Given the description of an element on the screen output the (x, y) to click on. 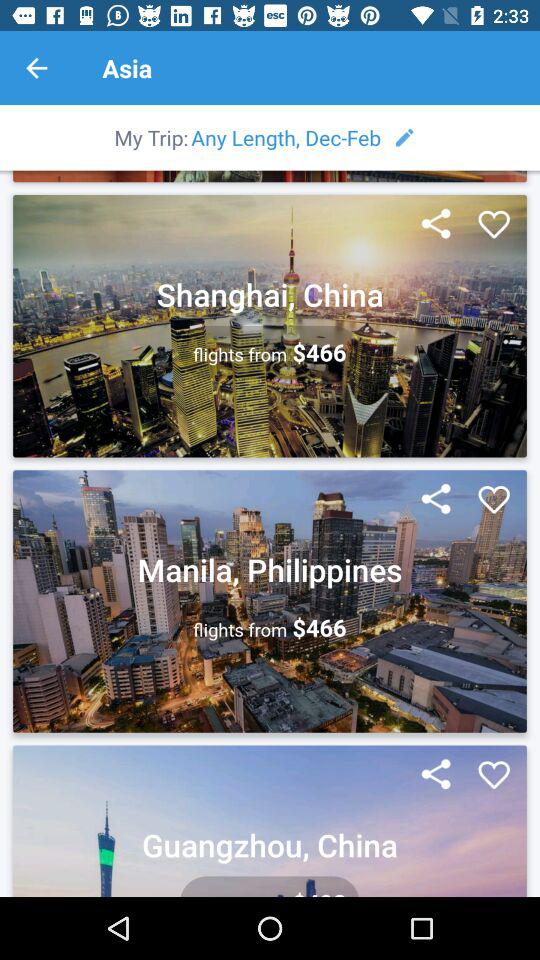
share the article (435, 775)
